Given the description of an element on the screen output the (x, y) to click on. 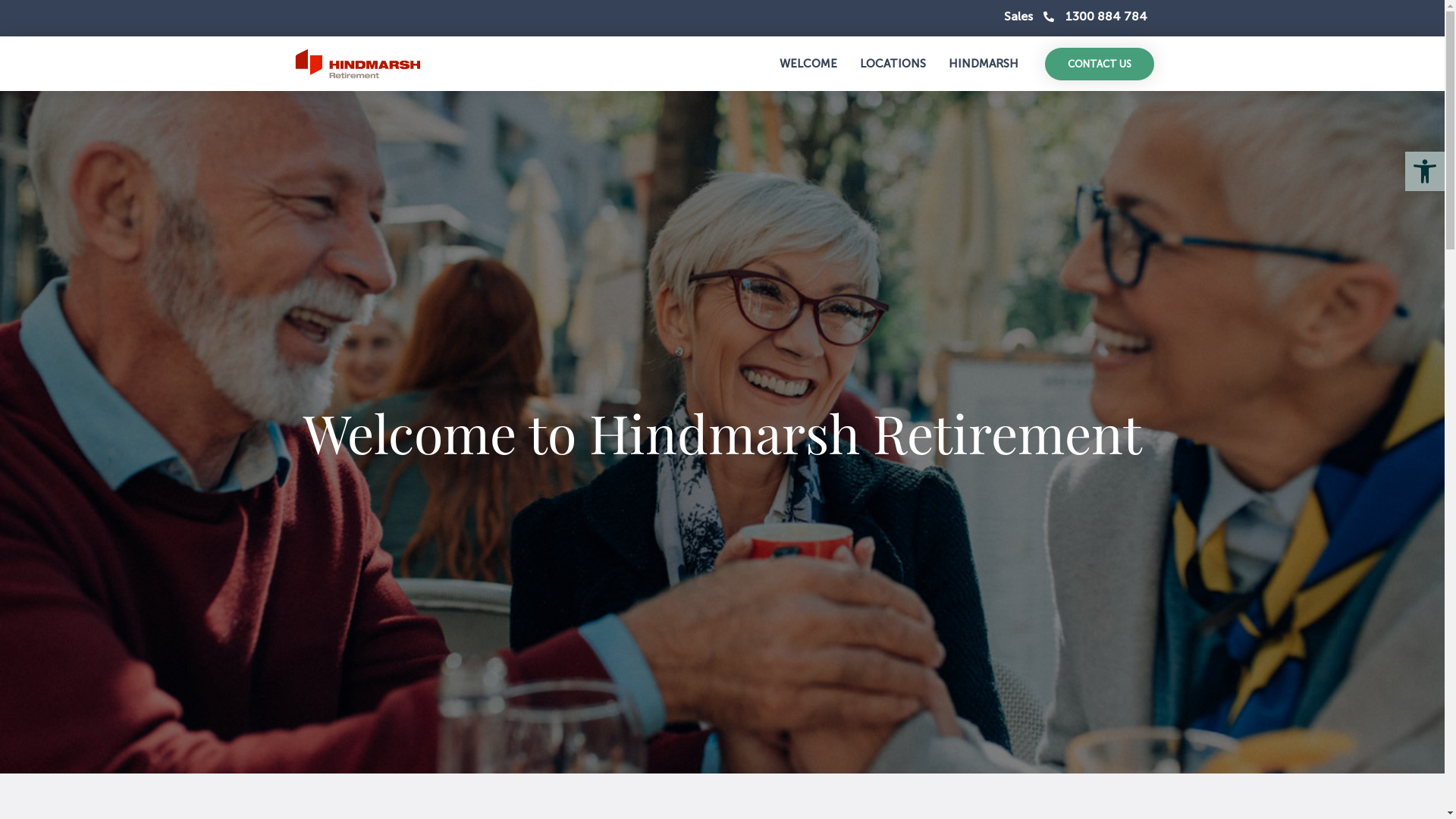
1300 884 784 Element type: text (1093, 16)
HINDMARSH Element type: text (983, 63)
Open toolbar
Accessibility Tools Element type: text (1424, 171)
LOCATIONS Element type: text (892, 63)
CONTACT US Element type: text (1099, 63)
WELCOME Element type: text (808, 63)
